Given the description of an element on the screen output the (x, y) to click on. 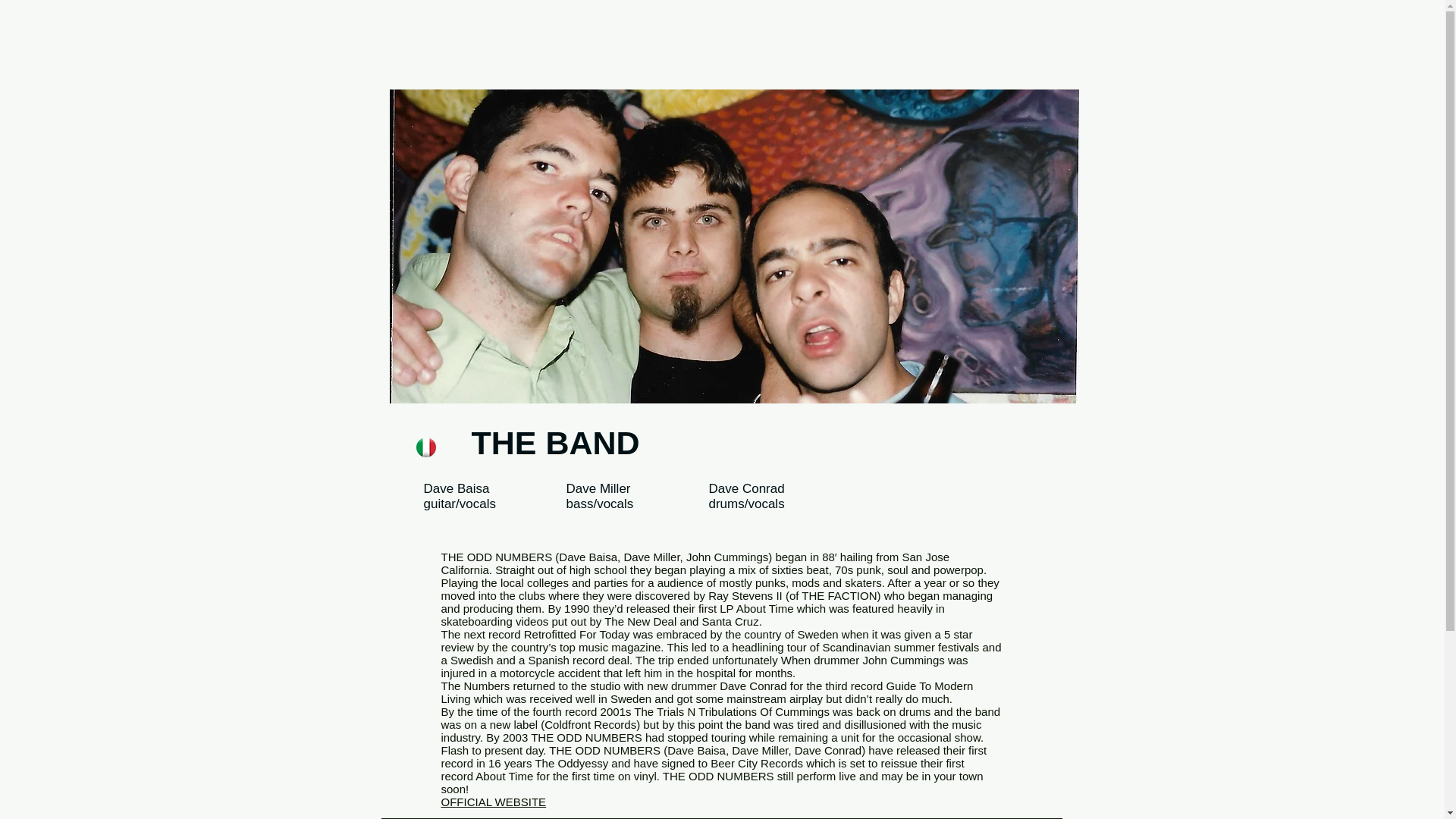
OFFICIAL WEBSITE (494, 801)
